Given the description of an element on the screen output the (x, y) to click on. 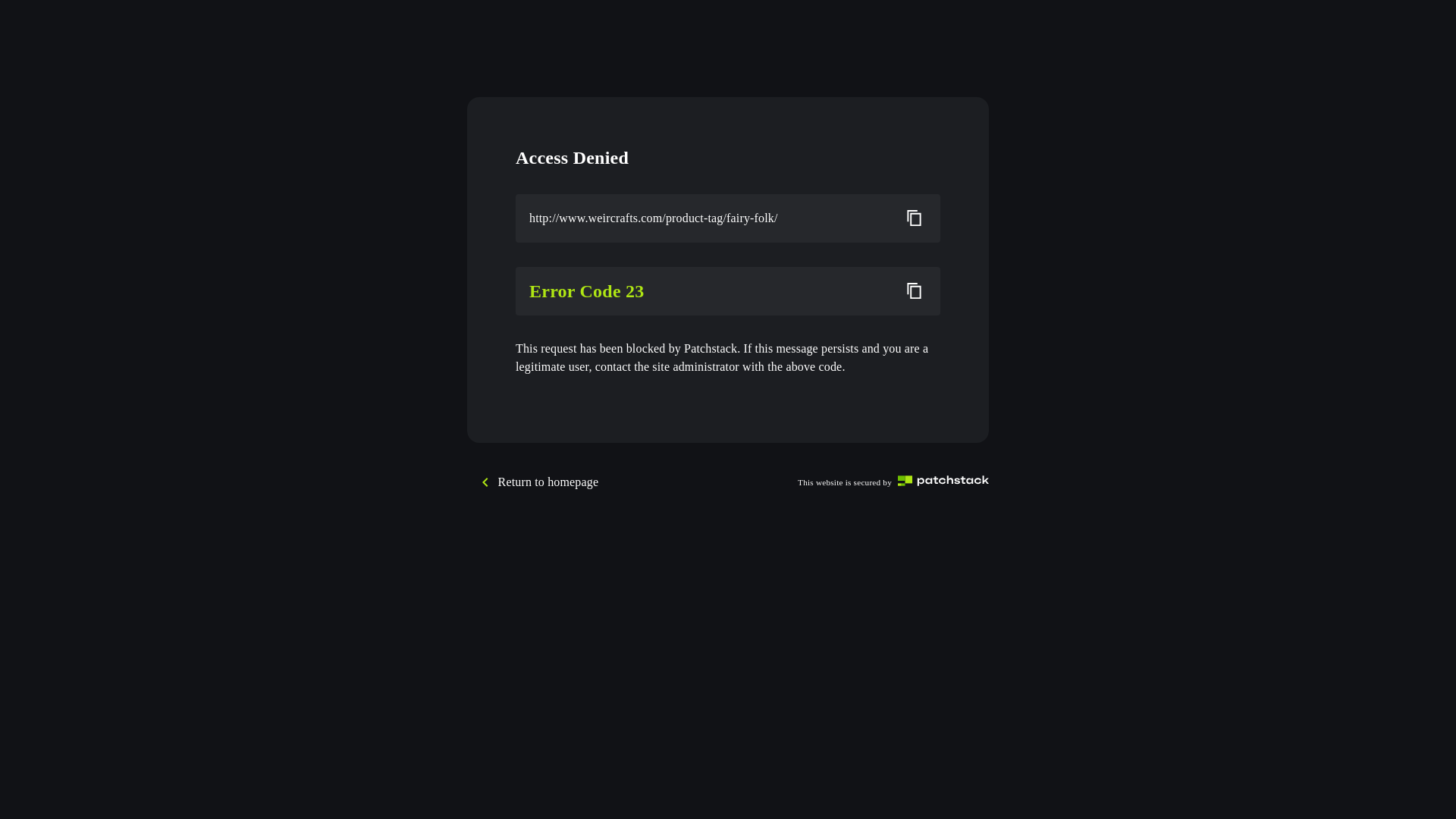
Error Code 23 (709, 290)
